Given the description of an element on the screen output the (x, y) to click on. 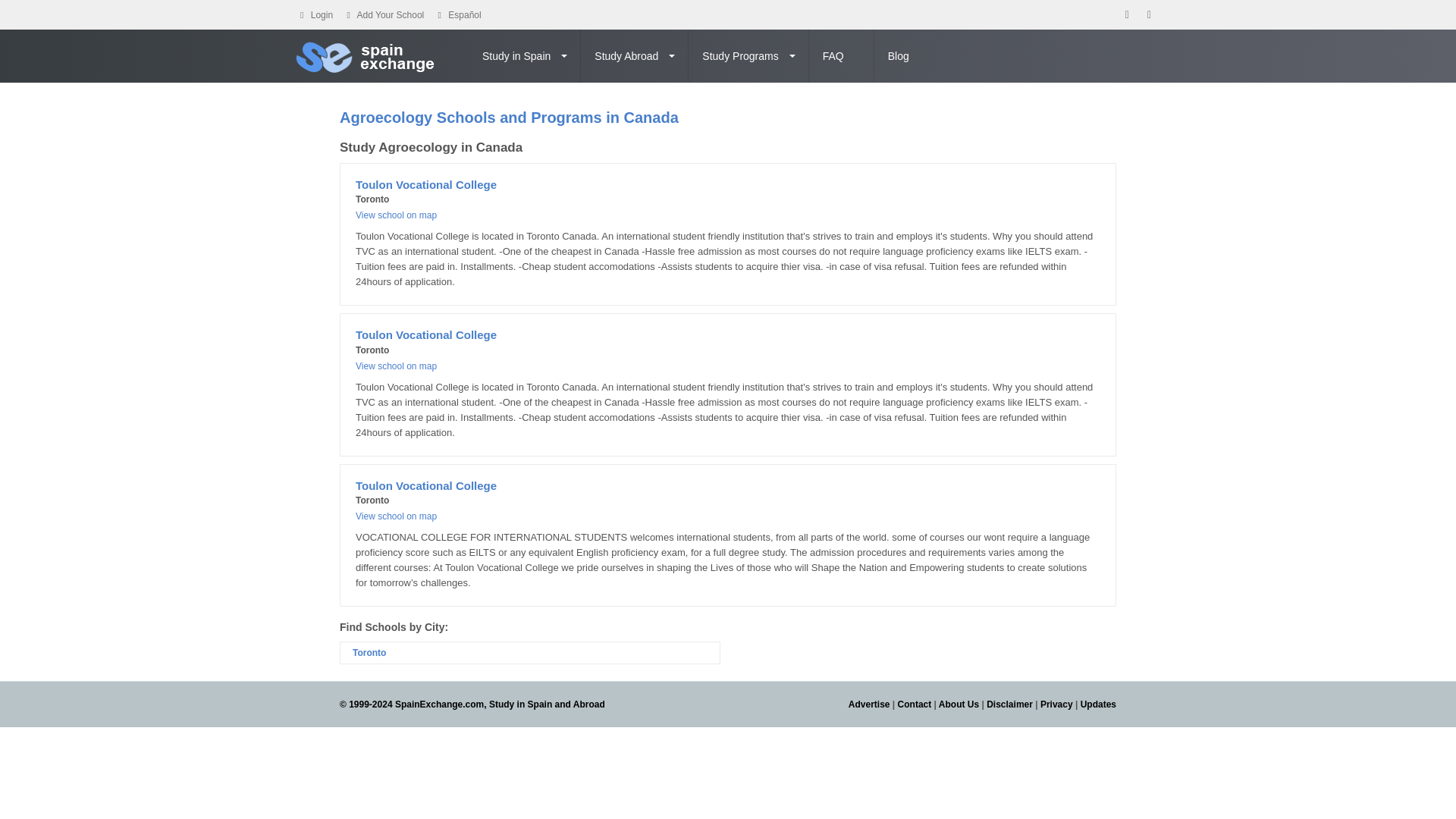
Study Programs (748, 55)
Login (322, 14)
Study Abroad (634, 55)
Study in Spain (524, 55)
Add Your School (390, 14)
